Given the description of an element on the screen output the (x, y) to click on. 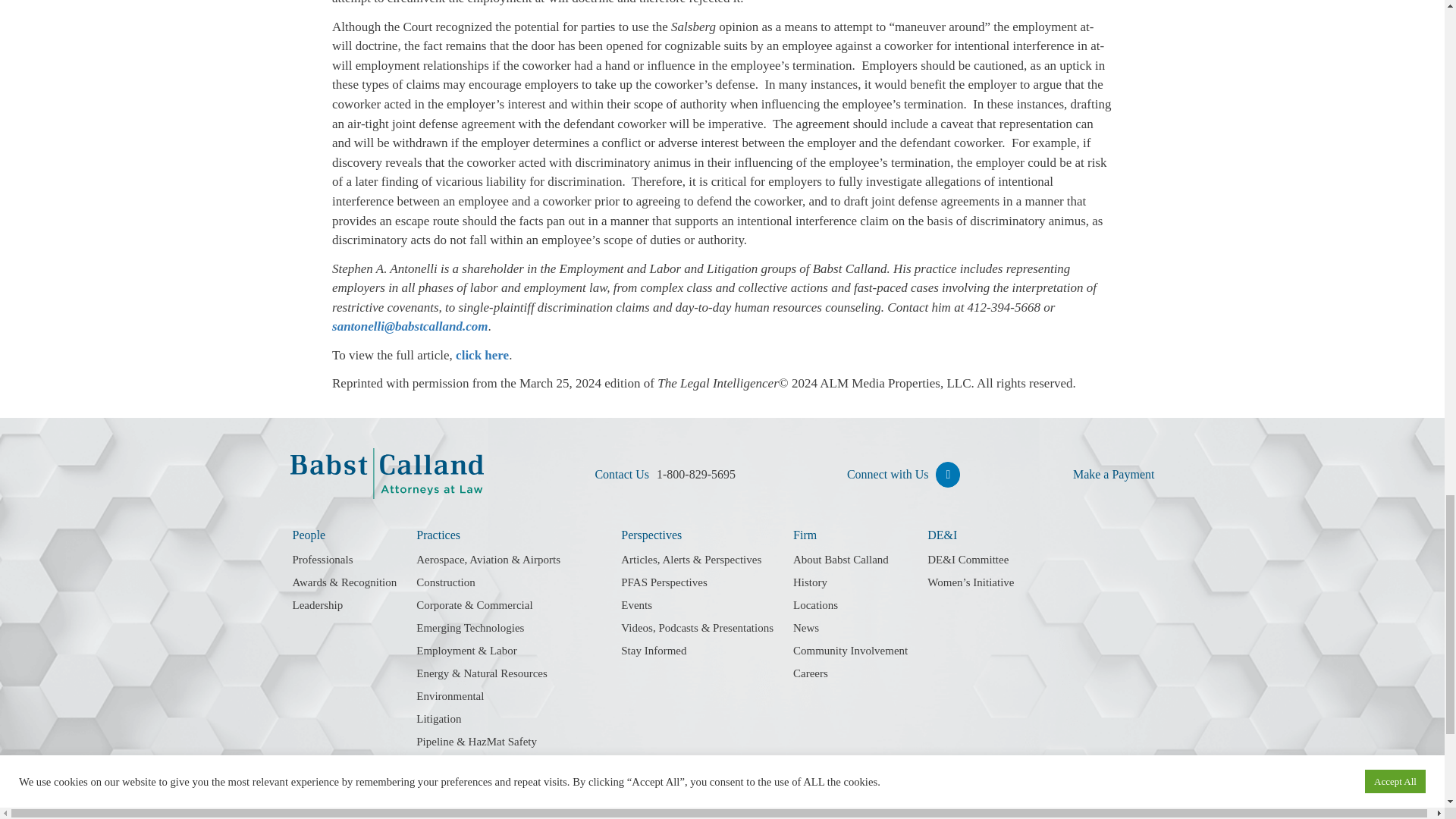
Babst Calland - Attorneys at Law on Linkedin (947, 474)
